Given the description of an element on the screen output the (x, y) to click on. 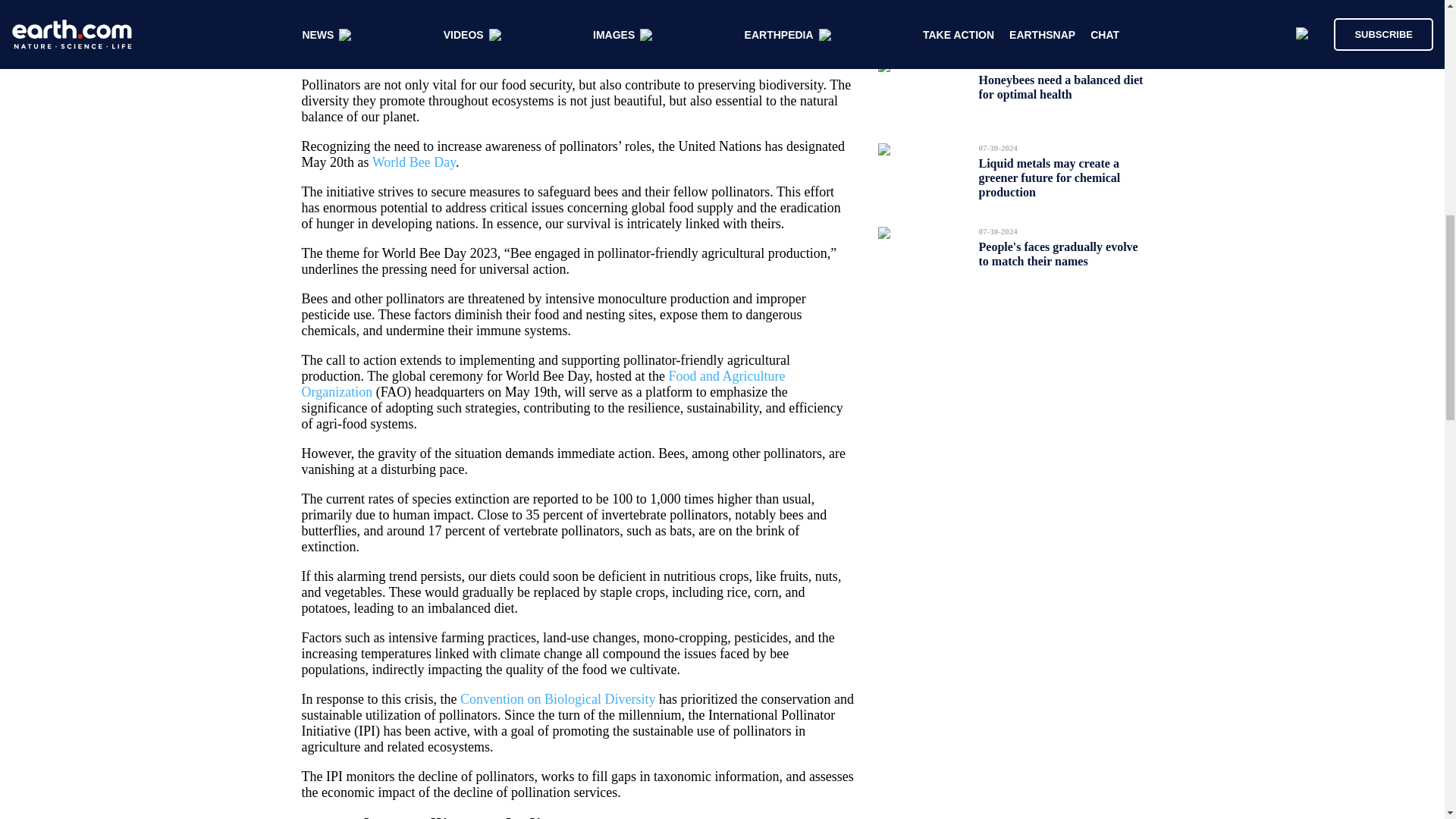
World Bee Day (413, 161)
How life and environment co-evolved over 500 million years (1056, 12)
Honeybees need a balanced diet for optimal health (1060, 87)
Food and Agriculture Organization (543, 383)
Convention on Biological Diversity (557, 698)
